Given the description of an element on the screen output the (x, y) to click on. 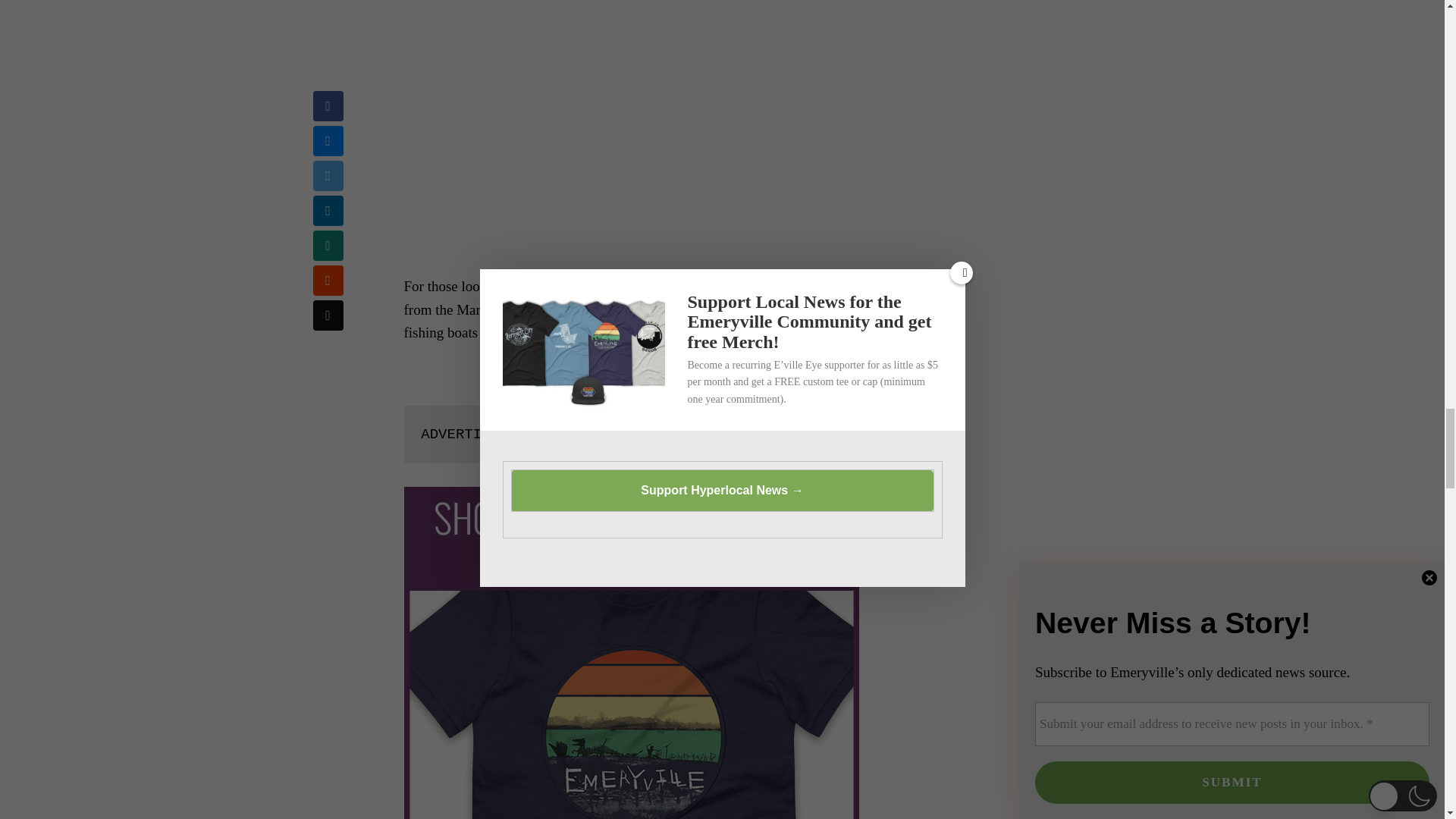
Downwinding San Francisco with Tom Nadzam and Jonas Letieri (645, 128)
